Given the description of an element on the screen output the (x, y) to click on. 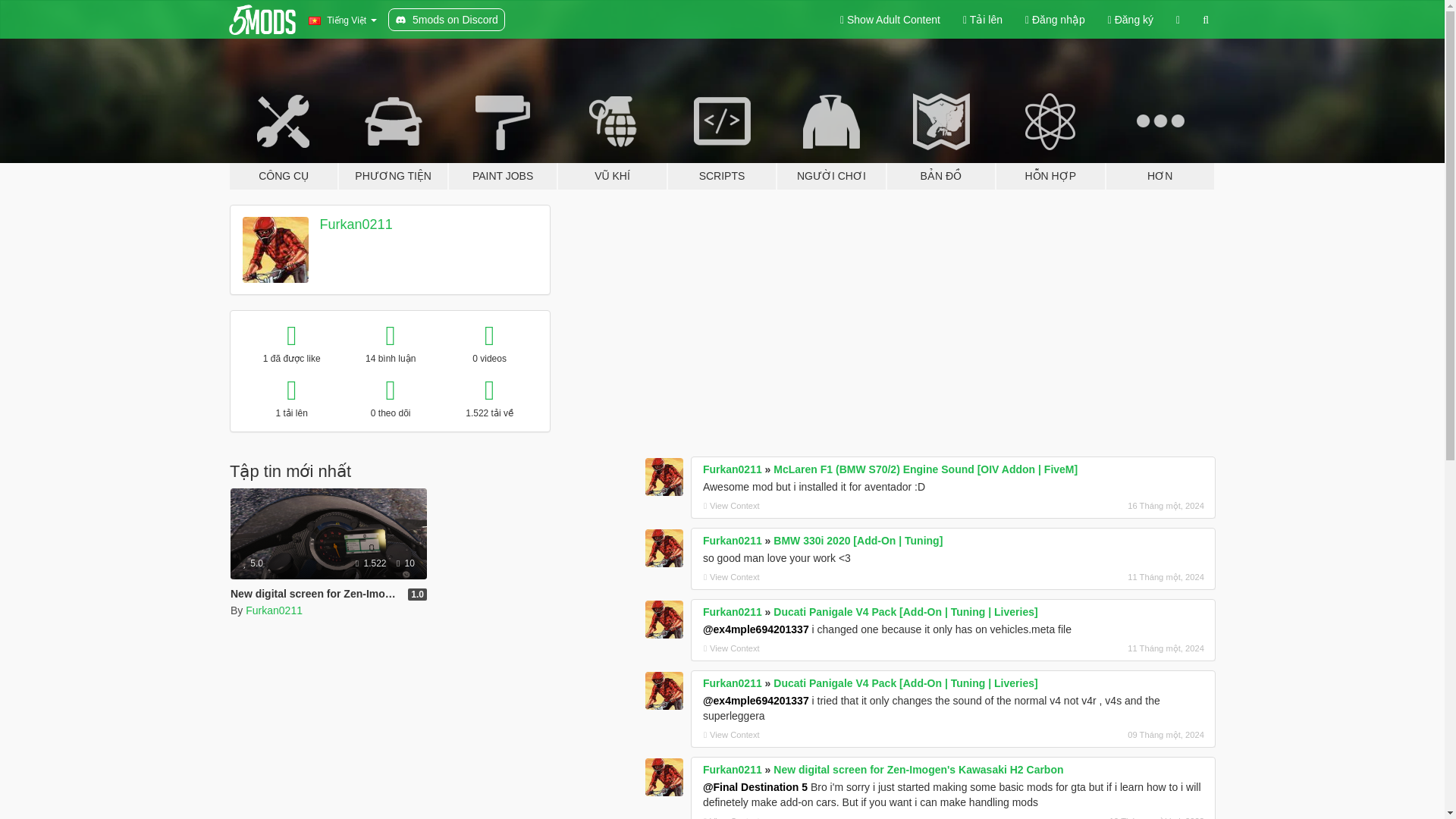
New digital screen for Zen-Imogen's Kawasaki H2 Carbon (328, 553)
Furkan0211 (274, 610)
5mods on Discord (446, 19)
1.0 (416, 594)
5.0 star rating (253, 562)
New digital screen for Zen-Imogen's Kawasaki H2 Carbon (328, 533)
Light mode (890, 19)
Show Adult Content (890, 19)
New digital screen for Zen-Imogen's Kawasaki H2 Carbon (374, 593)
